Given the description of an element on the screen output the (x, y) to click on. 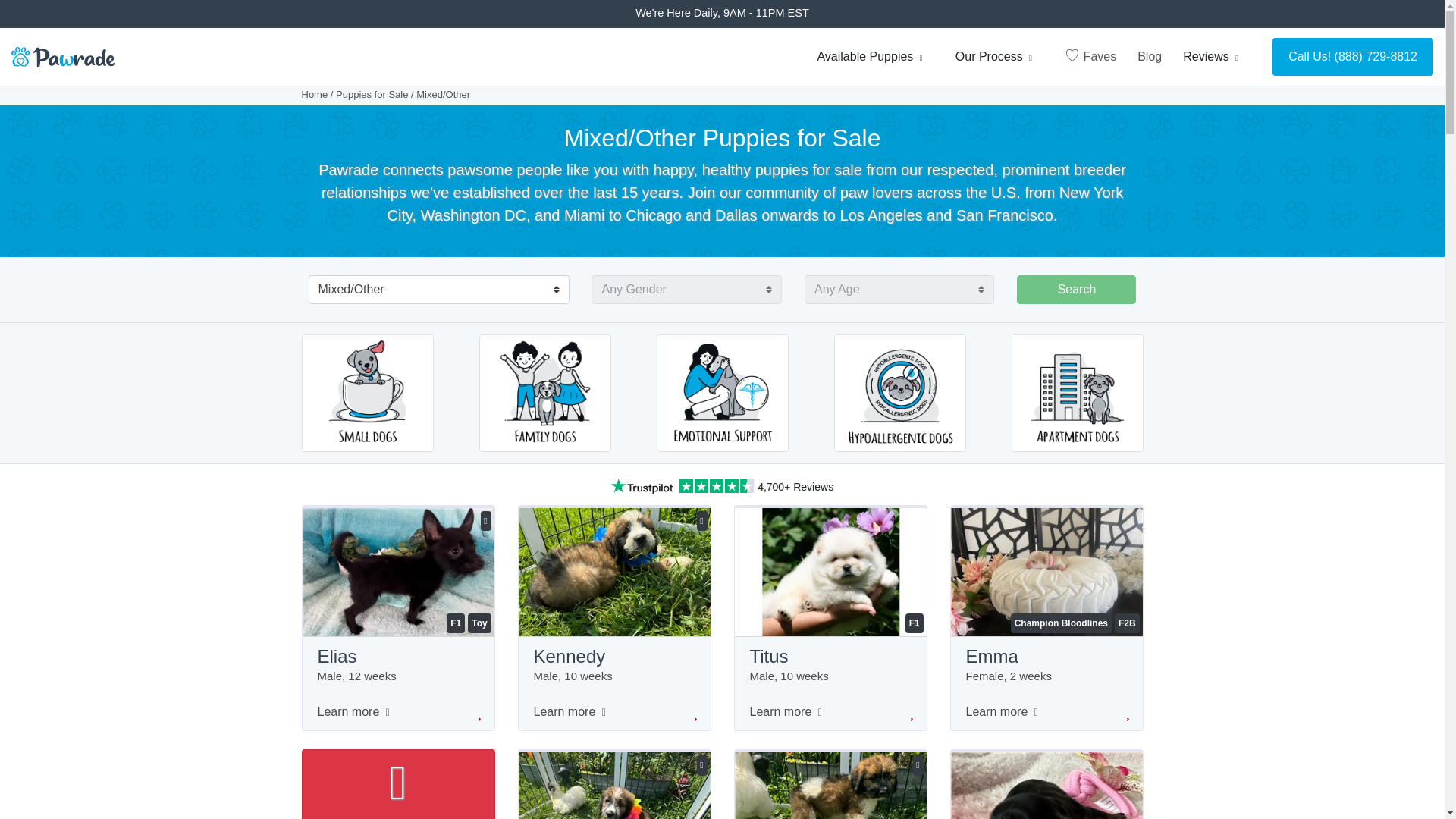
Puppies for Sale (371, 93)
Best Apartment Dogs (1076, 391)
Best Small Dogs (367, 391)
Available Puppies (874, 56)
Best Hypoallergenic Dogs (900, 391)
Our Process (999, 56)
Home (315, 93)
Best Emotional Support Dogs (722, 391)
Search (1075, 289)
Reviews (1216, 56)
